Given the description of an element on the screen output the (x, y) to click on. 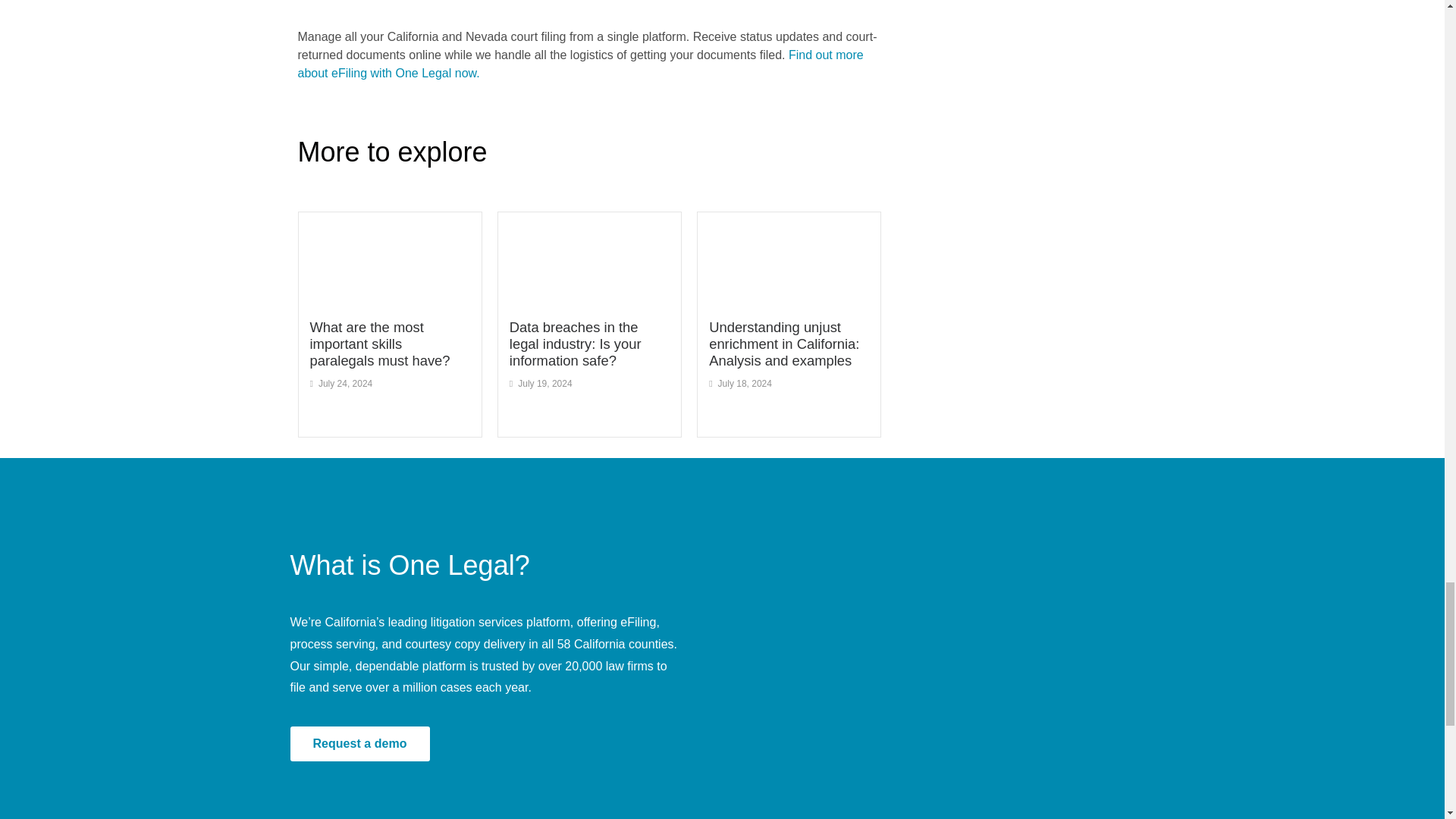
Request a demo (359, 743)
What are the most important skills paralegals must have? (378, 343)
What are the most important skills paralegals must have? (378, 343)
Find out more about eFiling with One Legal now. (580, 63)
